Given the description of an element on the screen output the (x, y) to click on. 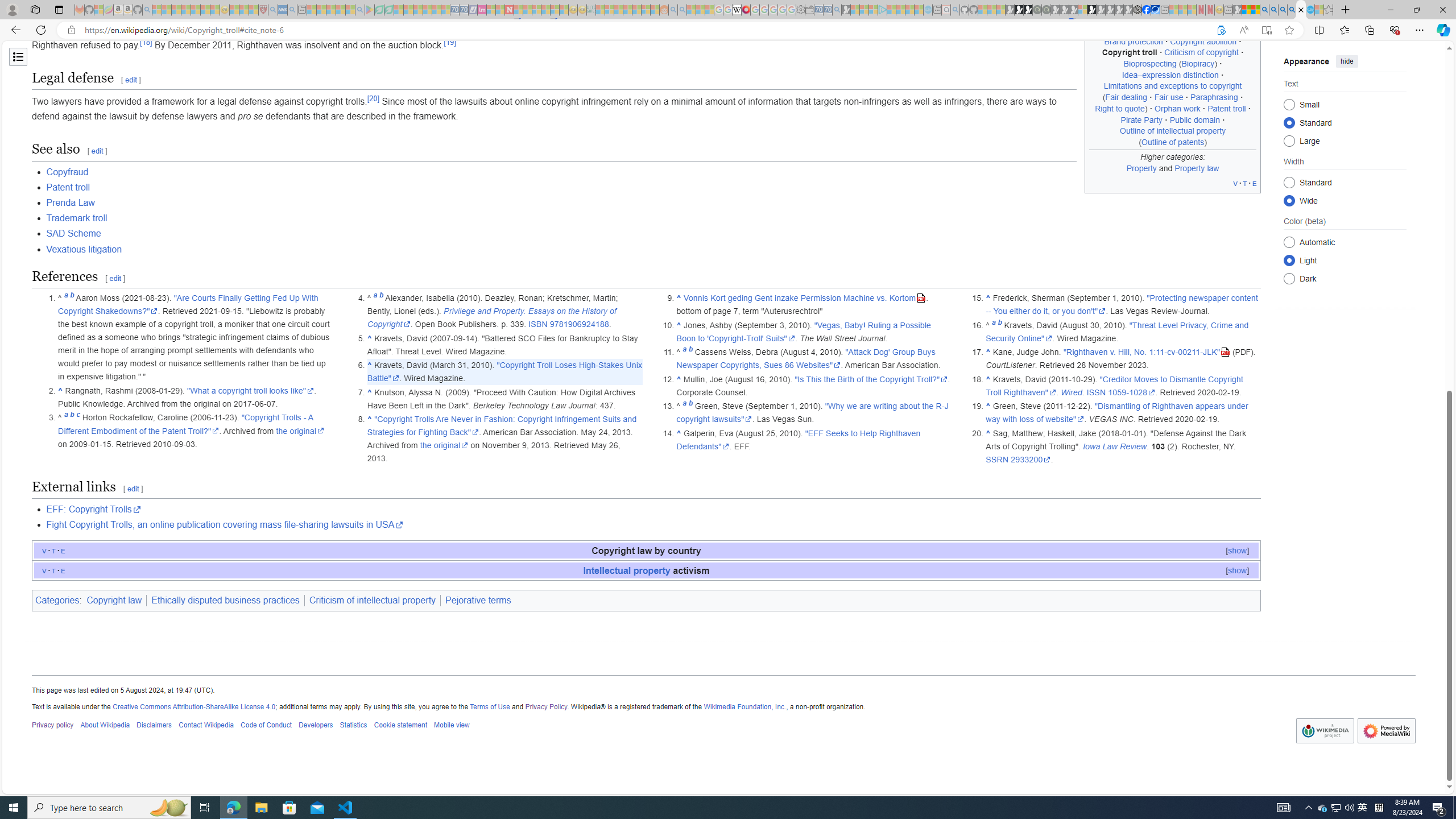
2933200 (1030, 459)
Bluey: Let's Play! - Apps on Google Play - Sleeping (369, 9)
AutomationID: footer-poweredbyico (1385, 730)
Statistics (352, 725)
SAD Scheme (73, 233)
"Creditor Moves to Dismantle Copyright Troll Righthaven" (1114, 385)
Powered by MediaWiki (1385, 730)
Wide (1289, 200)
Code of Conduct (265, 725)
the original (443, 445)
Ethically disputed business practices (225, 600)
